Given the description of an element on the screen output the (x, y) to click on. 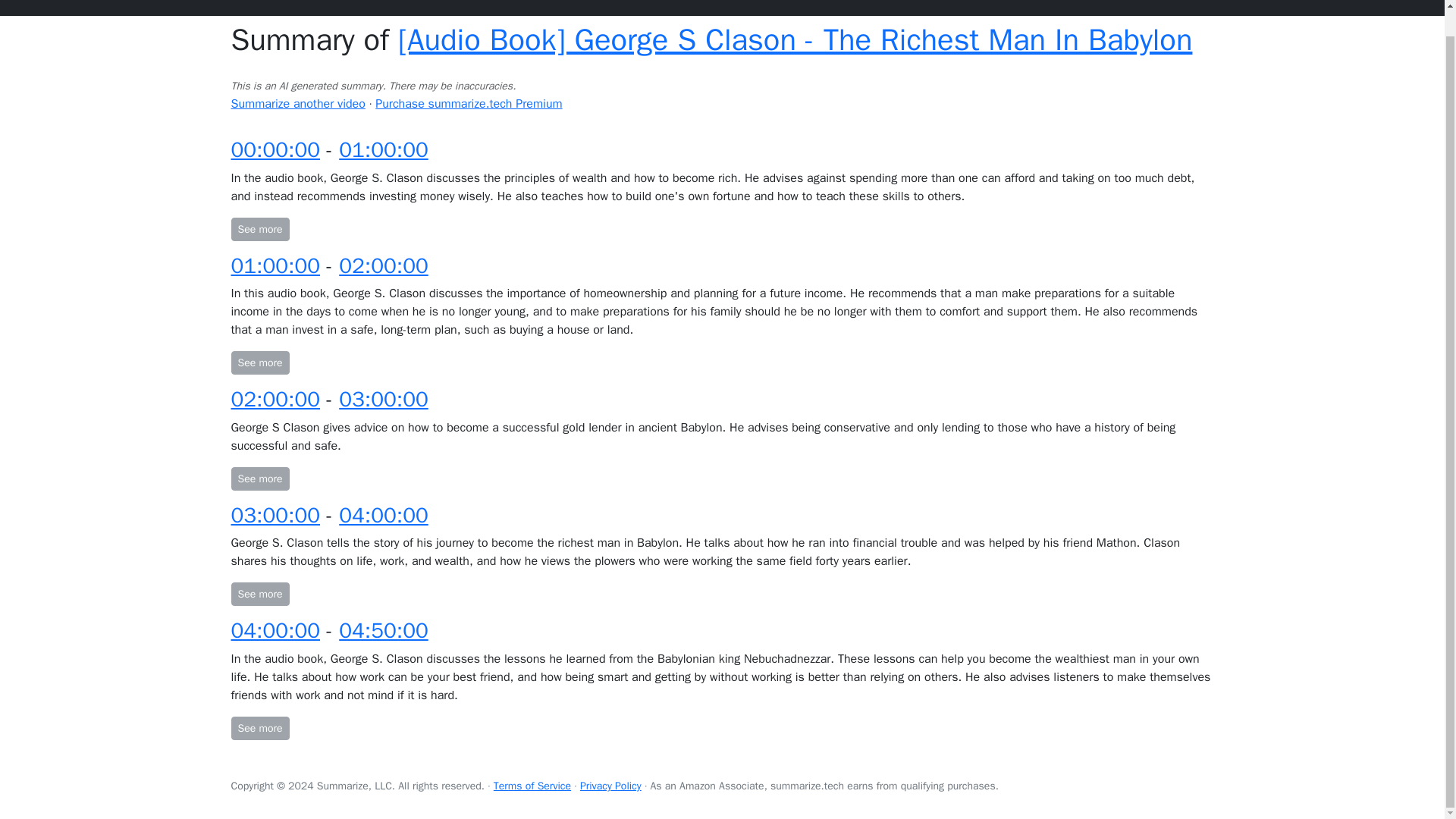
summarize.tech (283, 4)
00:00:00 (275, 149)
01:00:00 (383, 149)
Summarize another video (297, 103)
03:00:00 (383, 398)
See more (259, 362)
02:00:00 (275, 398)
See more (259, 478)
02:00:00 (383, 265)
01:00:00 (275, 265)
